Given the description of an element on the screen output the (x, y) to click on. 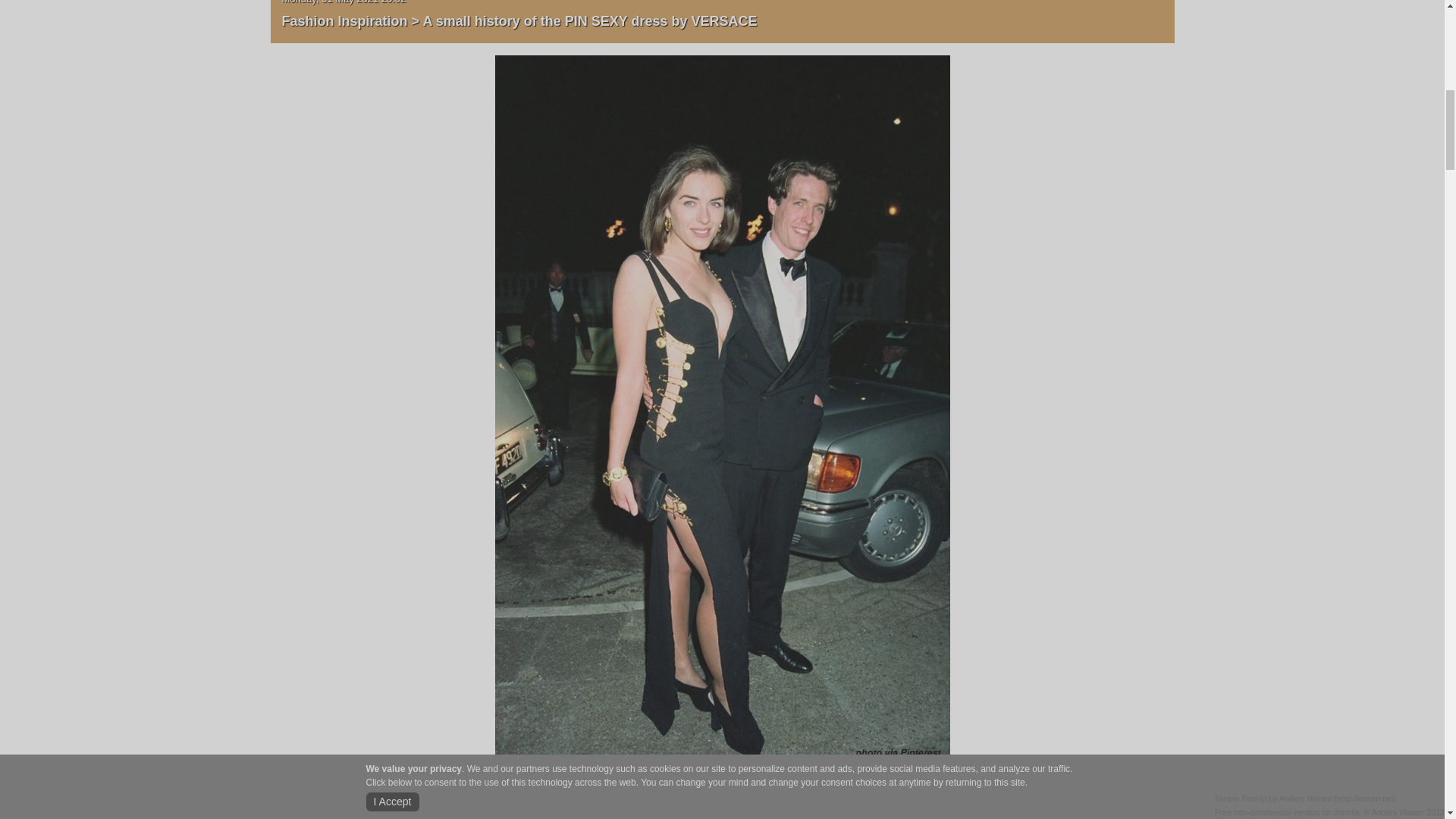
A small history of the PIN SEXY dress by VERSACE (722, 416)
A small history of the PIN SEXY dress by VERSACE (589, 18)
Fashion Inspiration (344, 18)
